Given the description of an element on the screen output the (x, y) to click on. 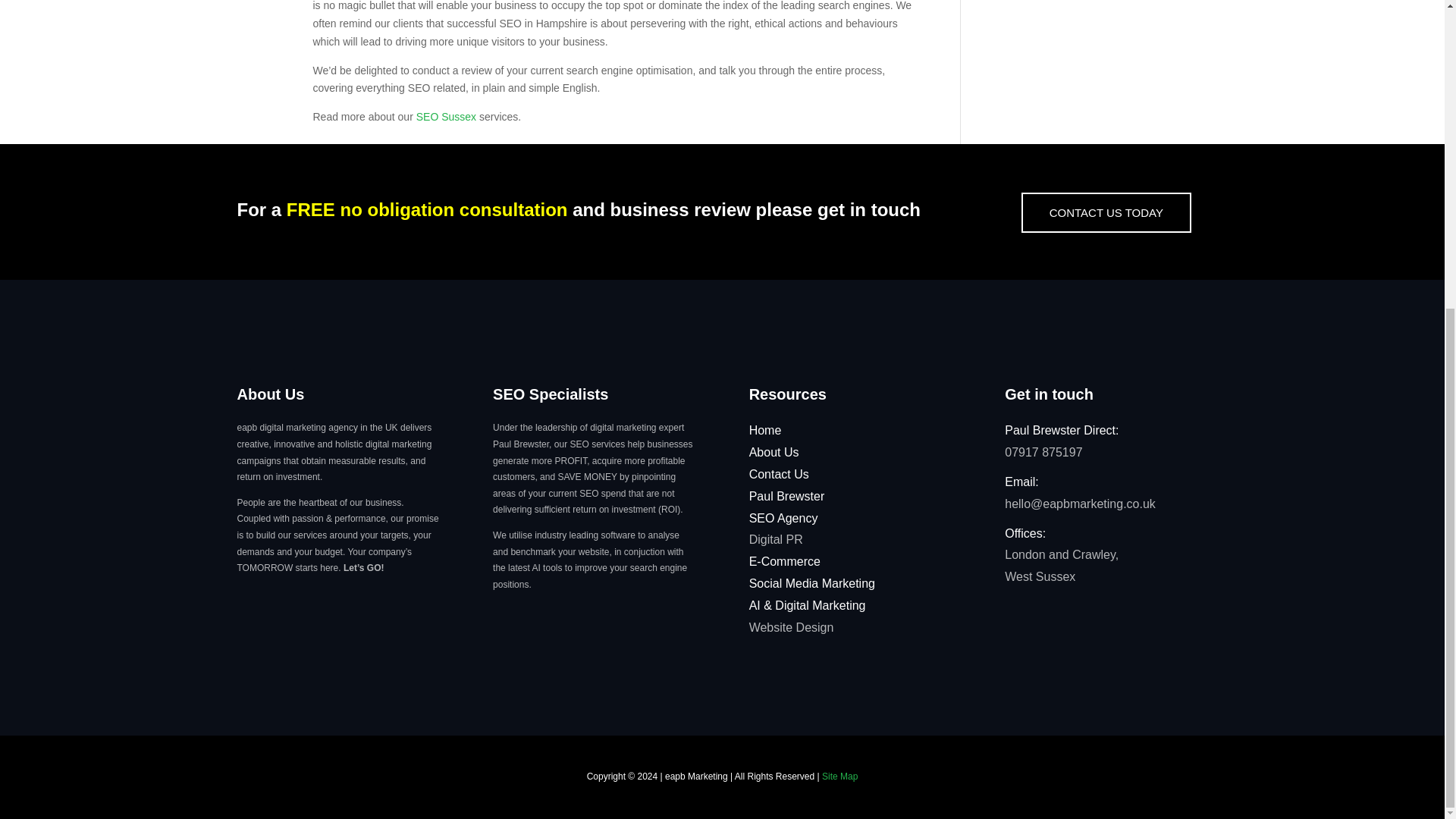
Site Map (839, 776)
Paul Brewster (787, 495)
site map (839, 776)
SEO Sussex (446, 116)
E-Commerce (785, 561)
SEO Sussex (446, 116)
CONTACT US TODAY (1106, 212)
Contact Us (779, 473)
Social Media Marketing (812, 583)
Home (765, 430)
